Given the description of an element on the screen output the (x, y) to click on. 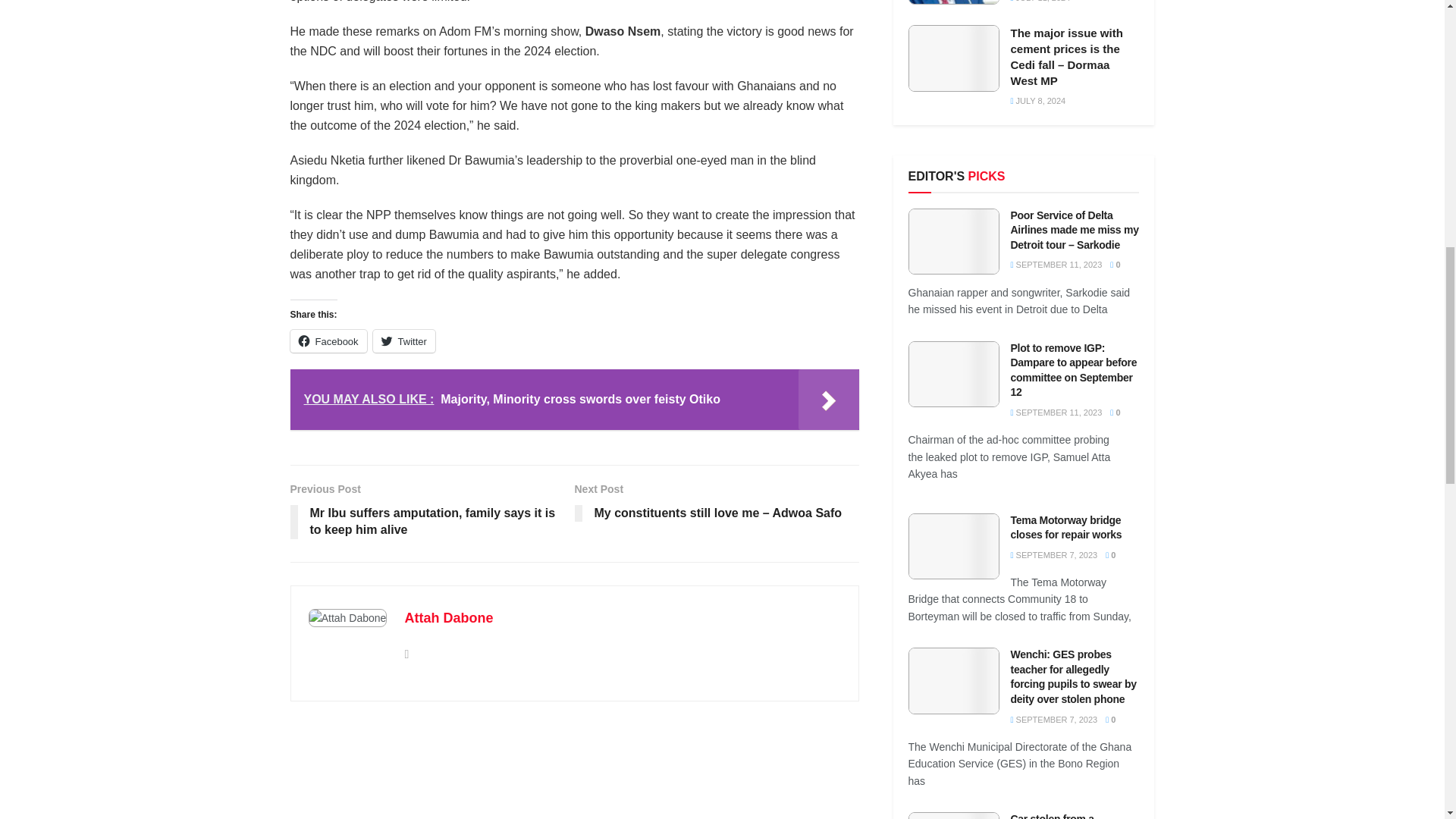
Click to share on Twitter (403, 341)
Click to share on Facebook (327, 341)
